Given the description of an element on the screen output the (x, y) to click on. 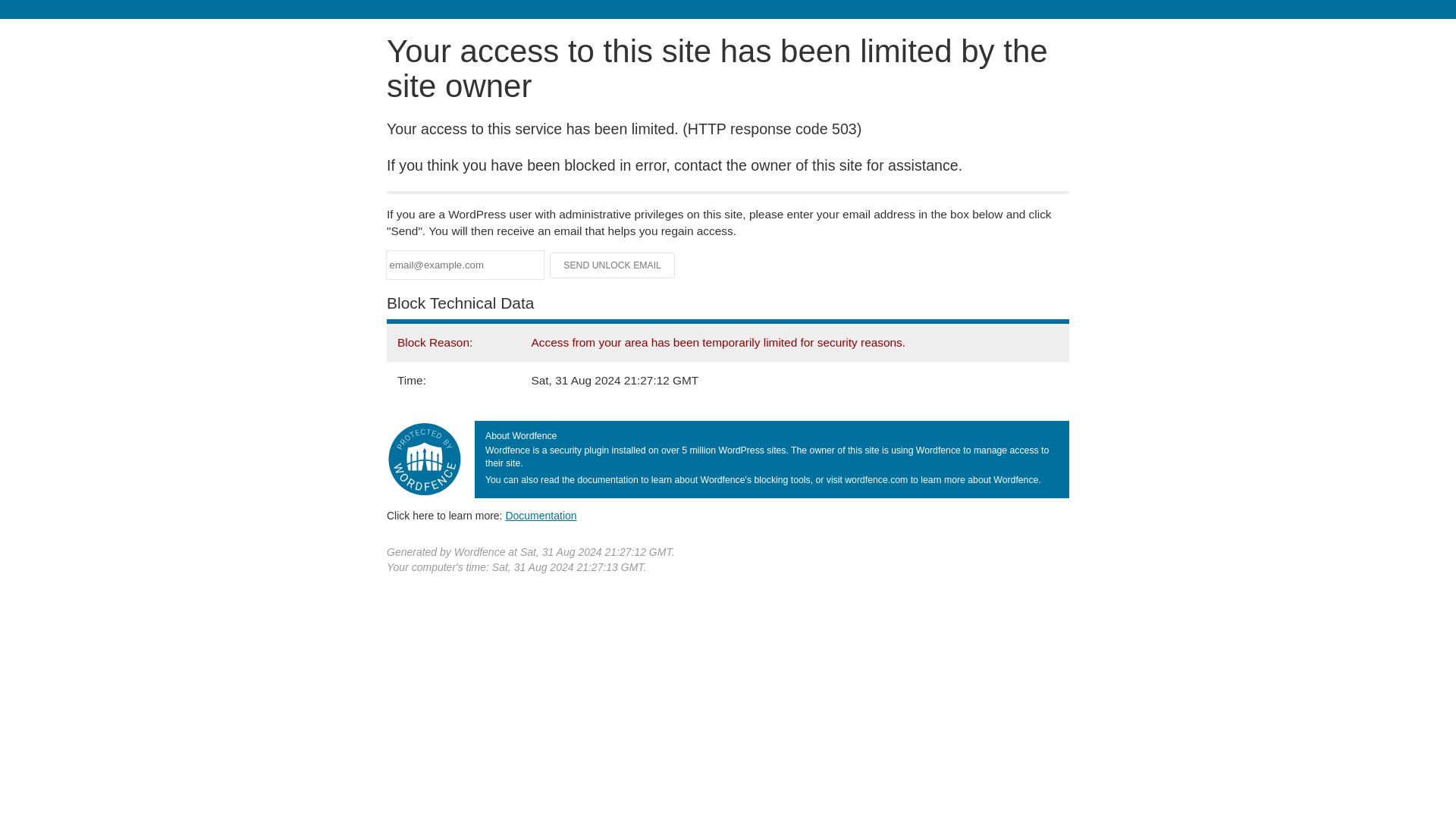
Send Unlock Email (612, 265)
Send Unlock Email (612, 265)
Documentation (540, 515)
